Given the description of an element on the screen output the (x, y) to click on. 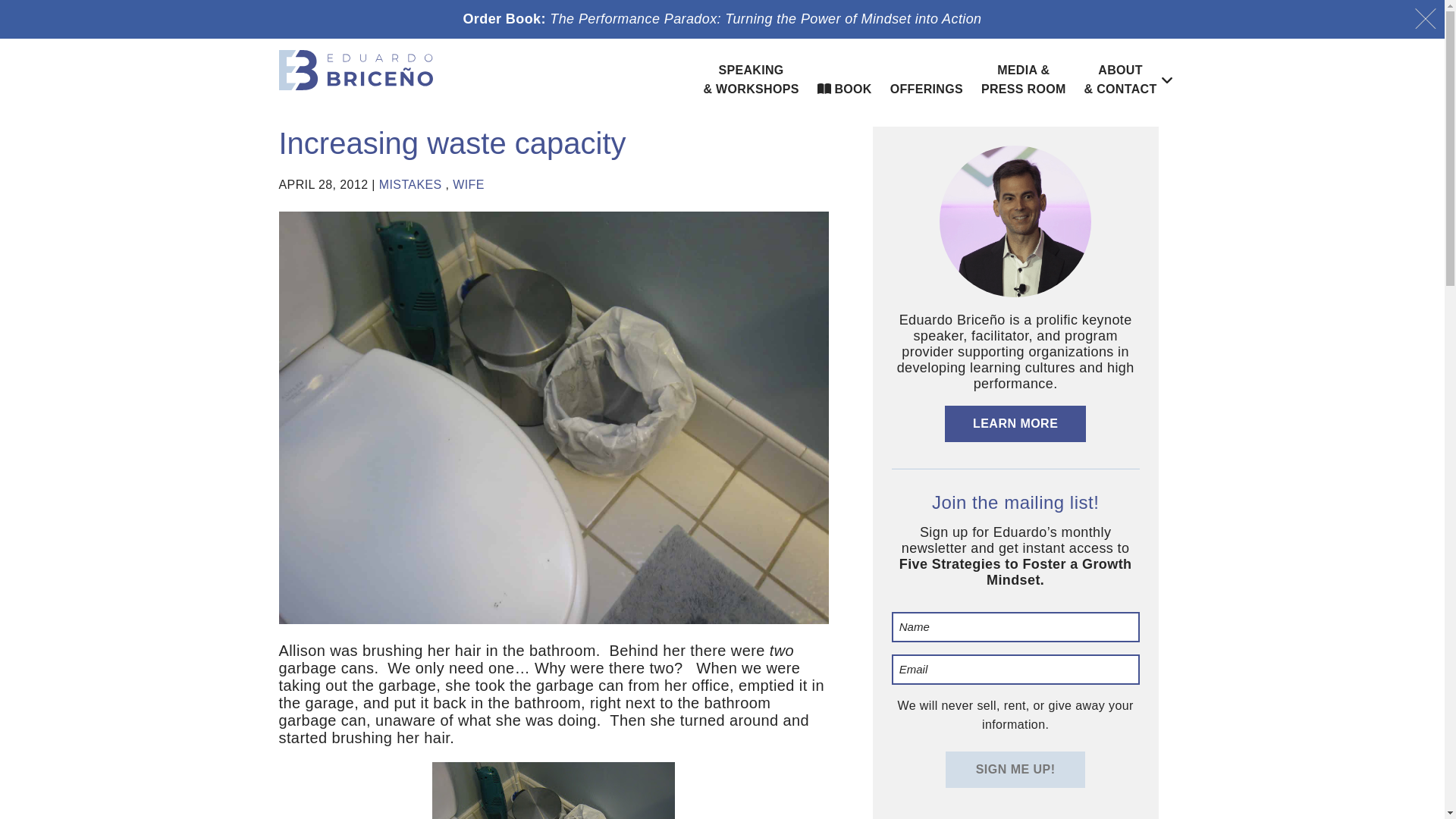
BOOK (844, 89)
OFFERINGS (925, 89)
Sign me up! (1014, 769)
MISTAKES (410, 184)
WIFE (468, 184)
